Given the description of an element on the screen output the (x, y) to click on. 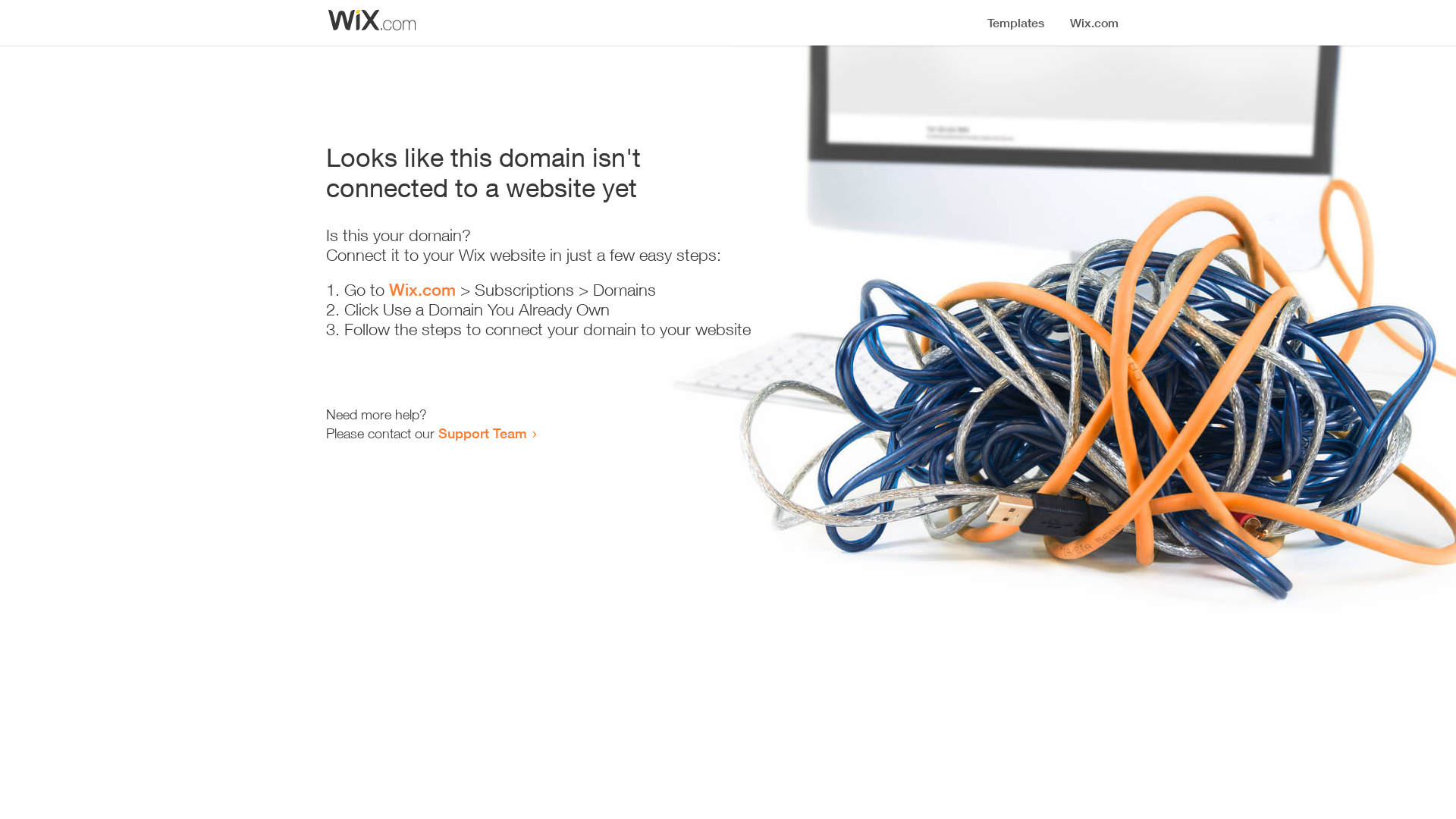
Support Team Element type: text (482, 432)
Wix.com Element type: text (422, 289)
